Given the description of an element on the screen output the (x, y) to click on. 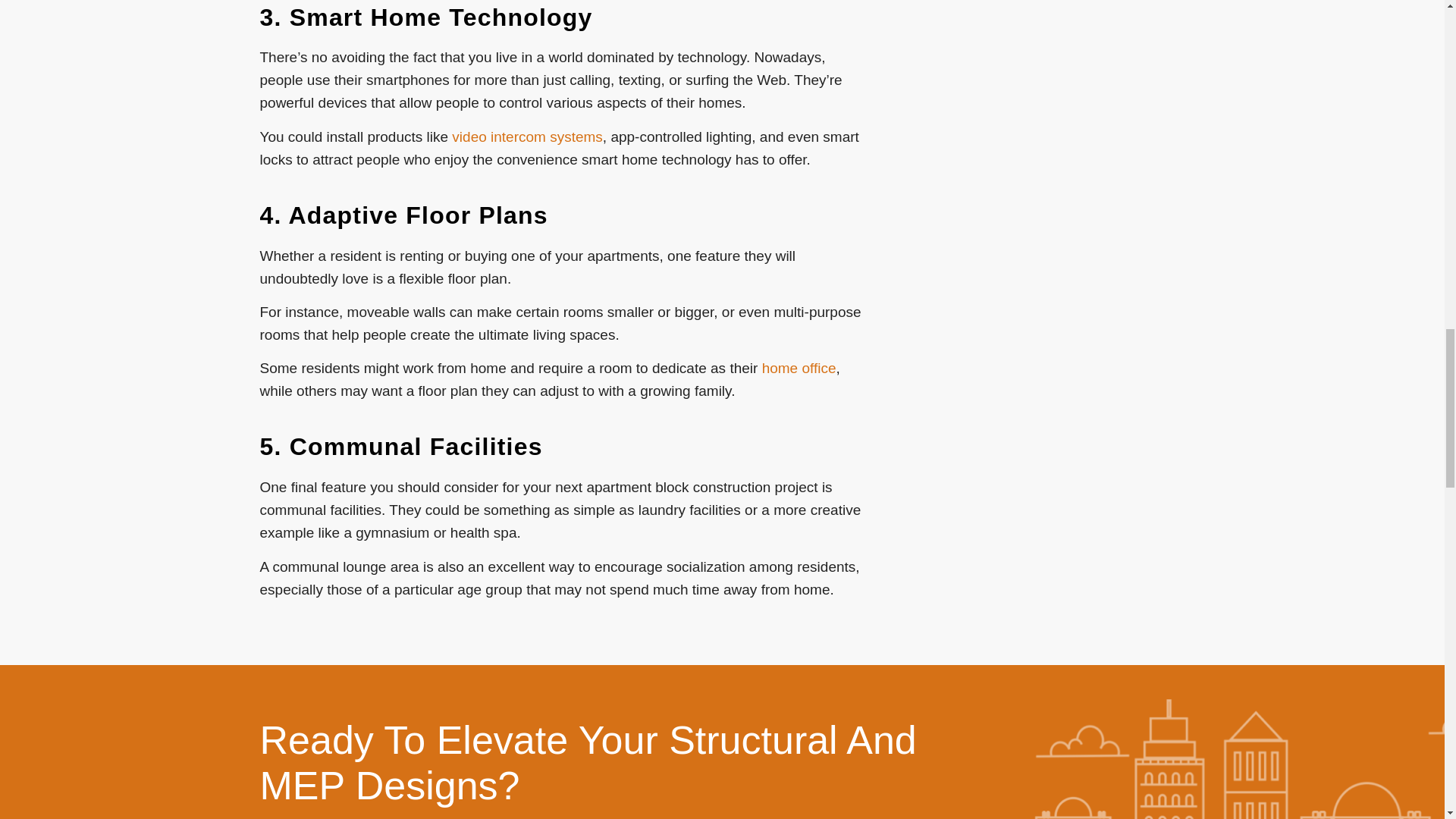
video intercom systems (526, 136)
home office (798, 367)
